Given the description of an element on the screen output the (x, y) to click on. 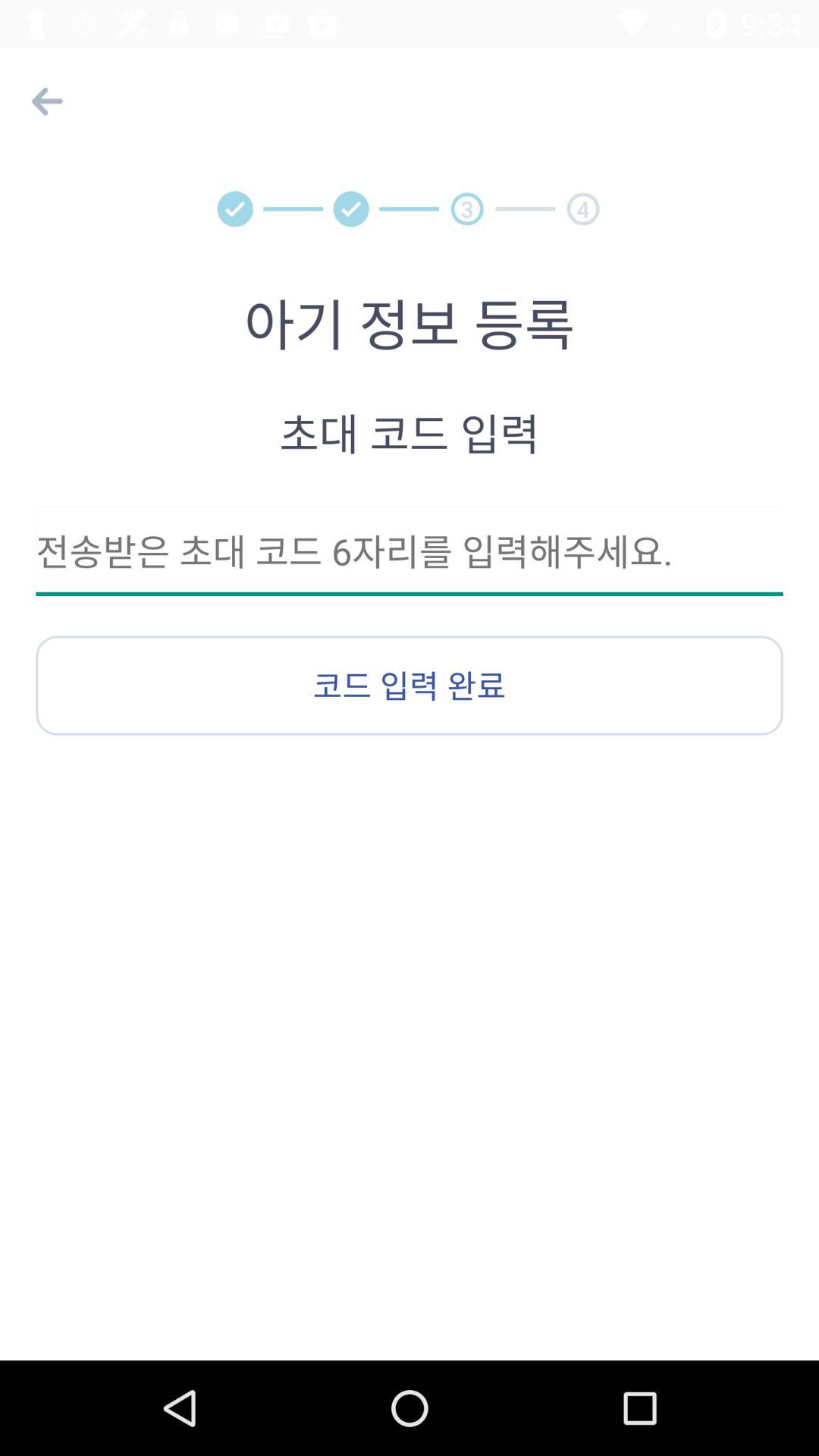
go back (43, 101)
